Given the description of an element on the screen output the (x, y) to click on. 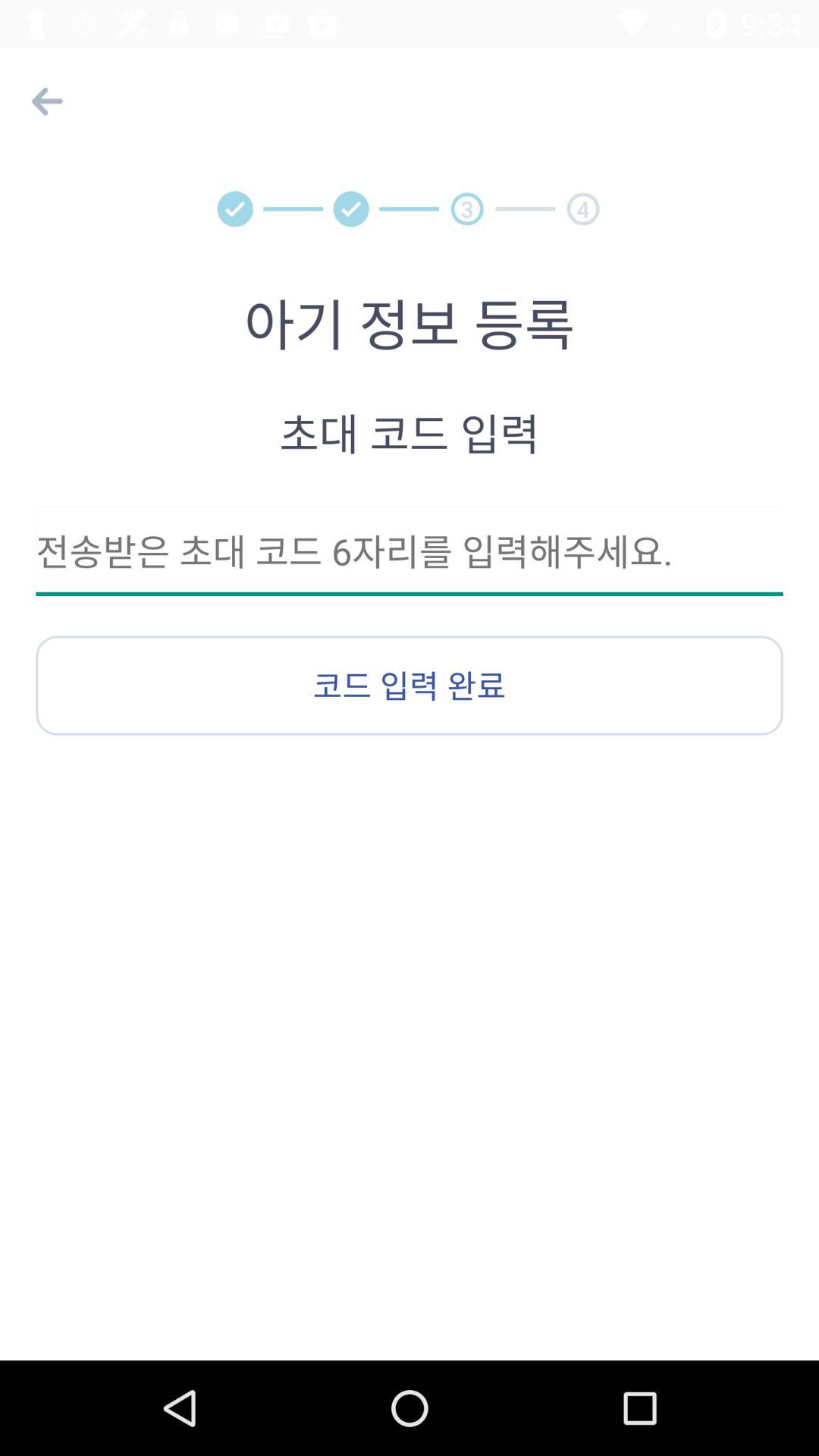
go back (43, 101)
